Given the description of an element on the screen output the (x, y) to click on. 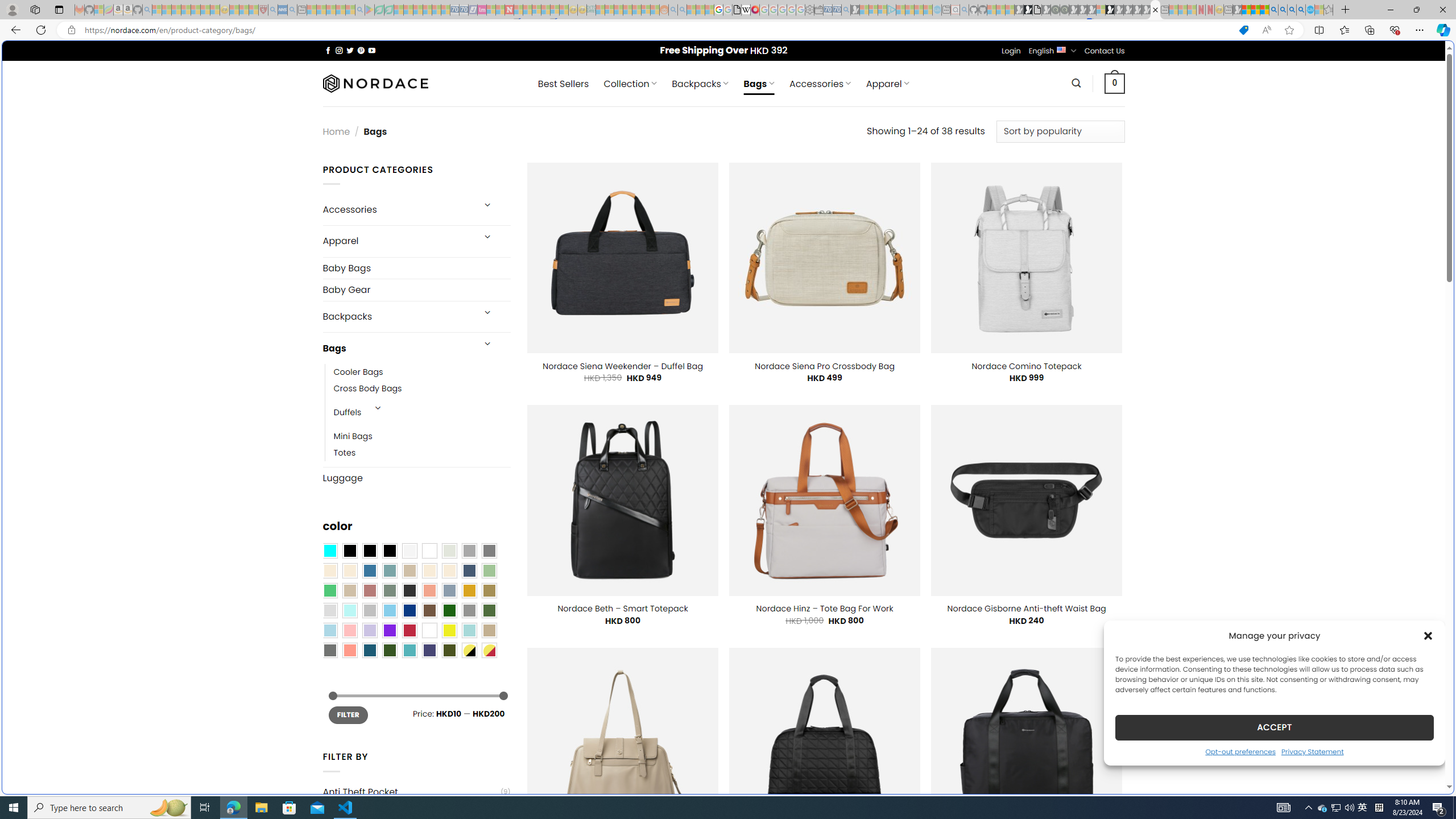
Cross Body Bags (367, 388)
  Best Sellers (563, 83)
Dull Nickle (329, 649)
English (1061, 49)
Nordace Siena Pro Crossbody Bag (823, 365)
Coral (429, 590)
Opt-out preferences (1240, 750)
Frequently visited (965, 151)
Baby Gear (416, 289)
